Given the description of an element on the screen output the (x, y) to click on. 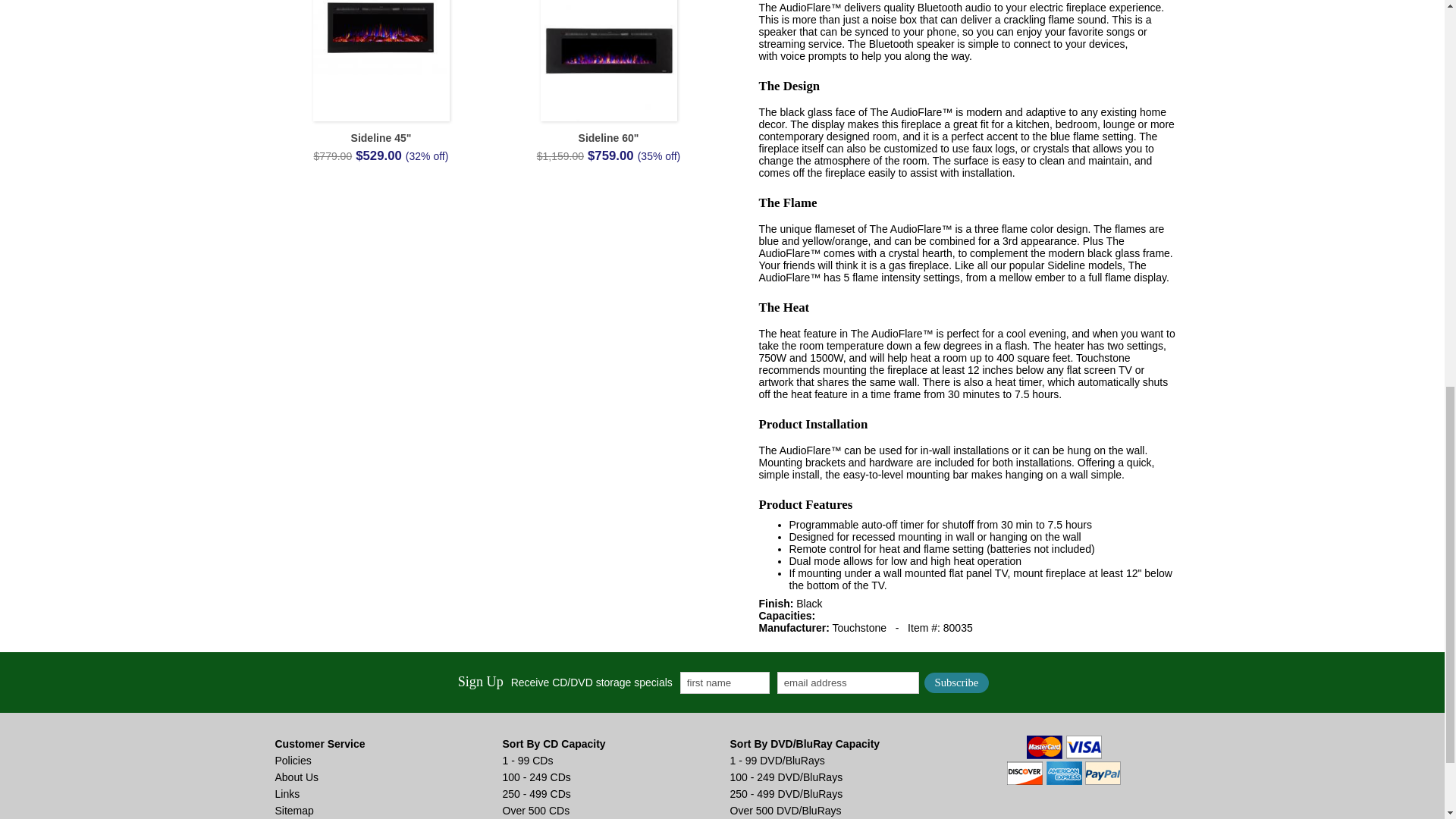
first name (724, 682)
email address (847, 682)
Subscribe (957, 682)
